Given the description of an element on the screen output the (x, y) to click on. 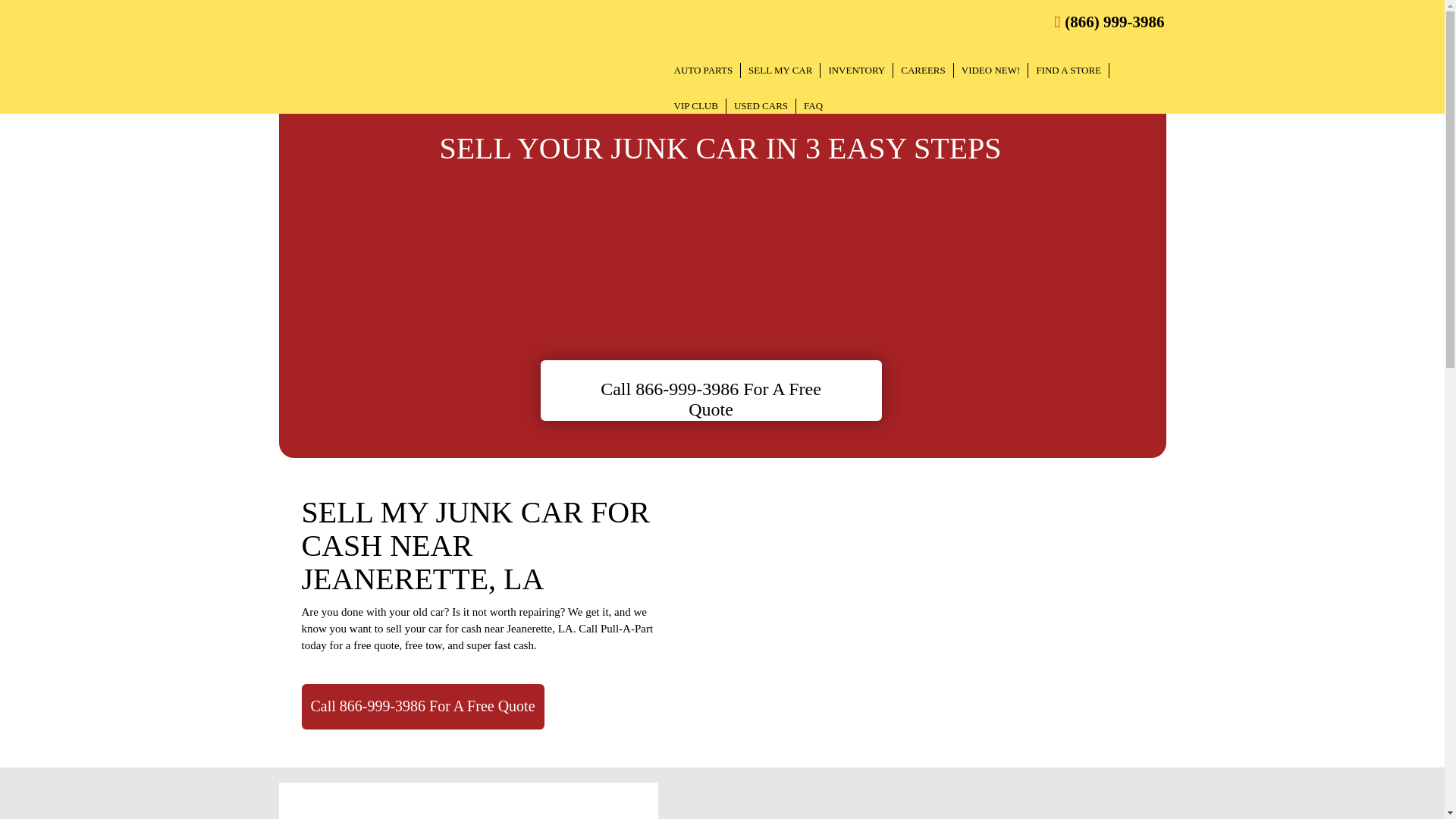
PULL-A-PART (368, 72)
AUTO PARTS (703, 70)
